Given the description of an element on the screen output the (x, y) to click on. 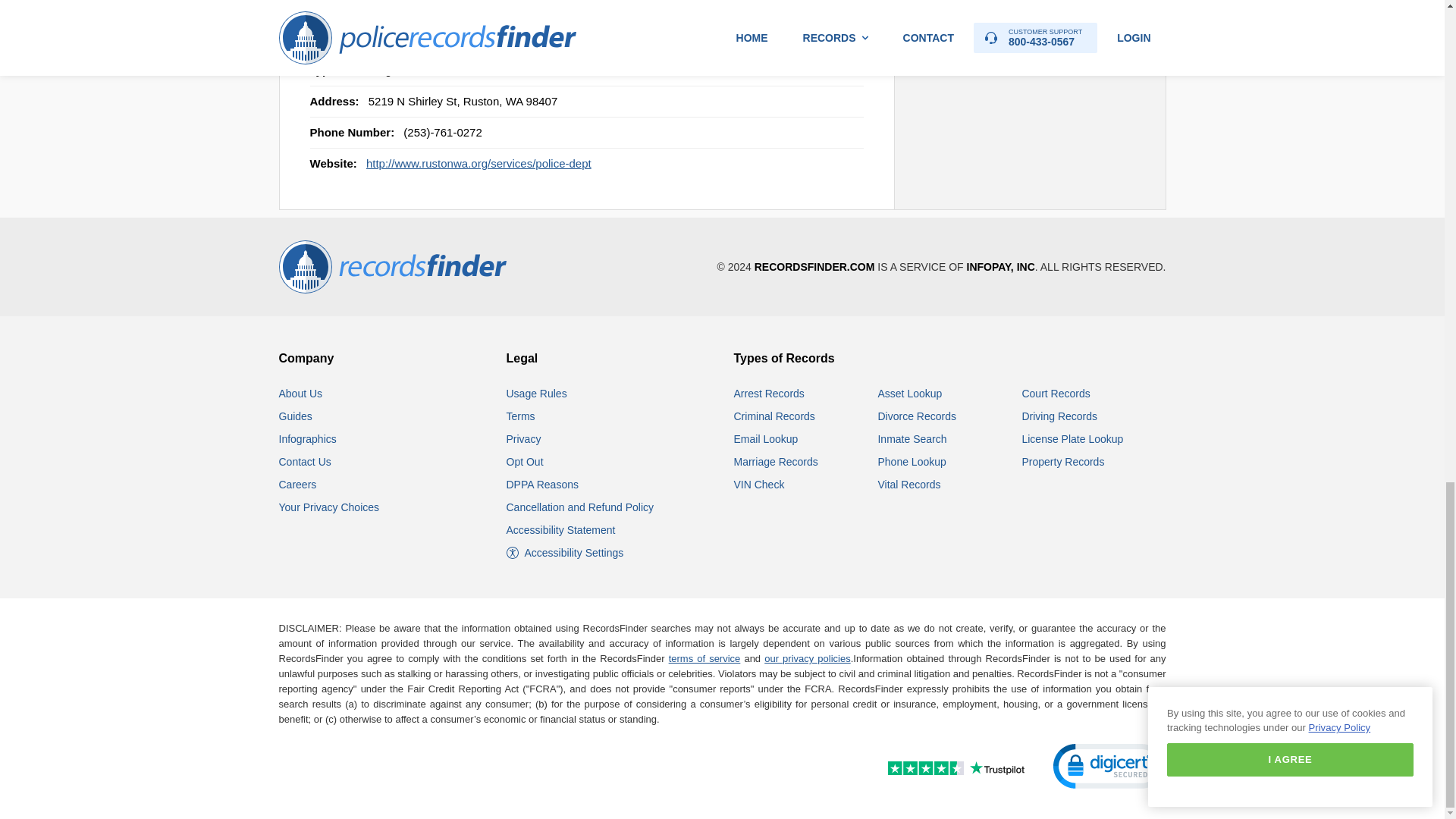
Contact RecordsFinder.com (305, 461)
RecordsFinder.com Terms and Conditions (520, 416)
Guides and How tos (296, 416)
Customer reviews powered by Trustpilot (922, 769)
RecordsFinder.com Cancellation and Refund Policy (579, 507)
About RecordsFinder.com (301, 393)
Careers at RecordsFinder.com (298, 484)
RecordsFinder.com Privacy Policy (523, 439)
RecordsFinder.com Usage Rules (536, 393)
Your Privacy Choices (329, 507)
RecordsFinder.com Accessibility Statement (560, 530)
RecordsFinder.com DPPA Reasons (542, 484)
RecordsFinder.com Opt Out Instructions (524, 461)
View Public Records Infographics and Statistics (307, 439)
